Given the description of an element on the screen output the (x, y) to click on. 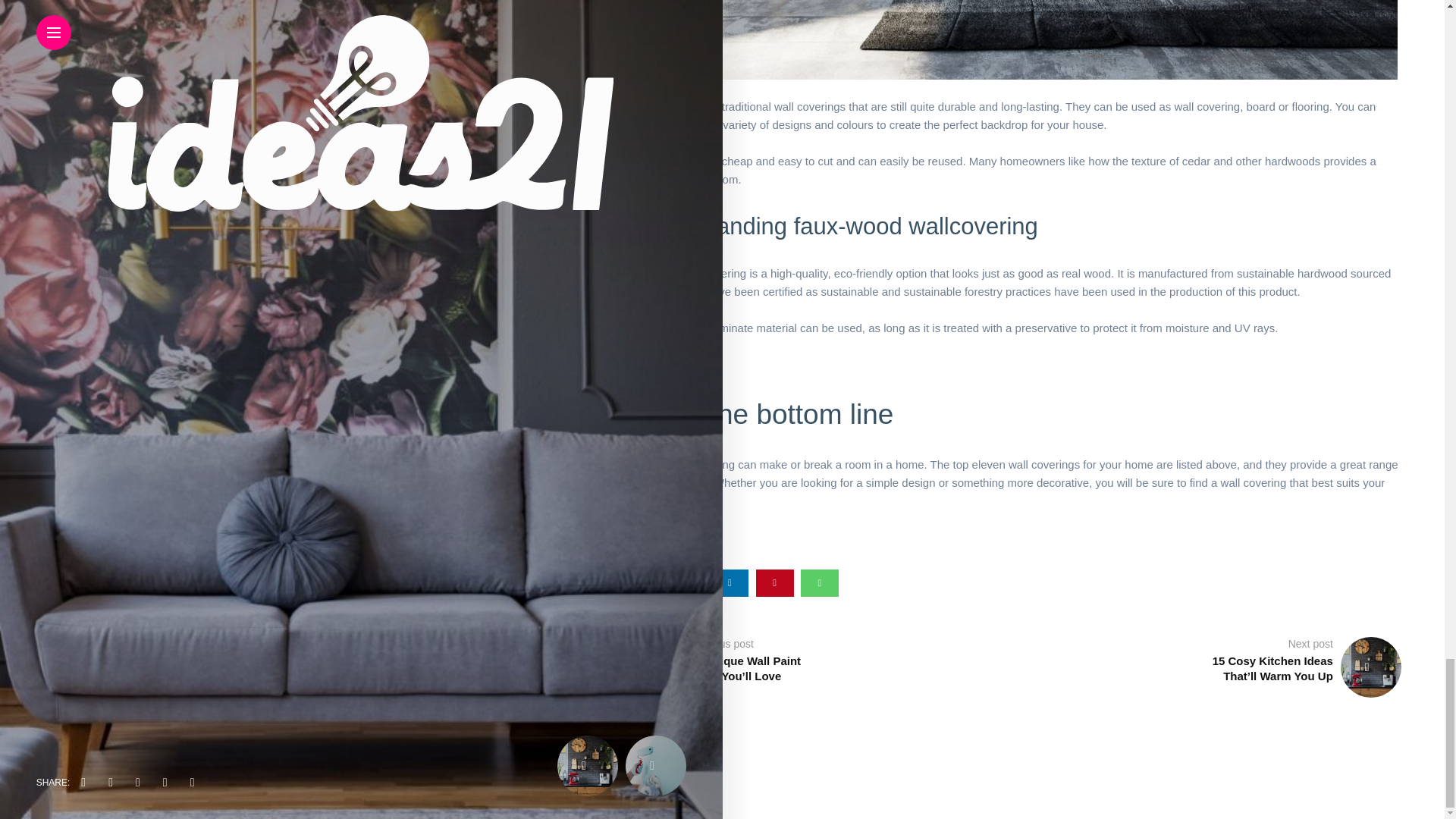
facebook (640, 583)
